Given the description of an element on the screen output the (x, y) to click on. 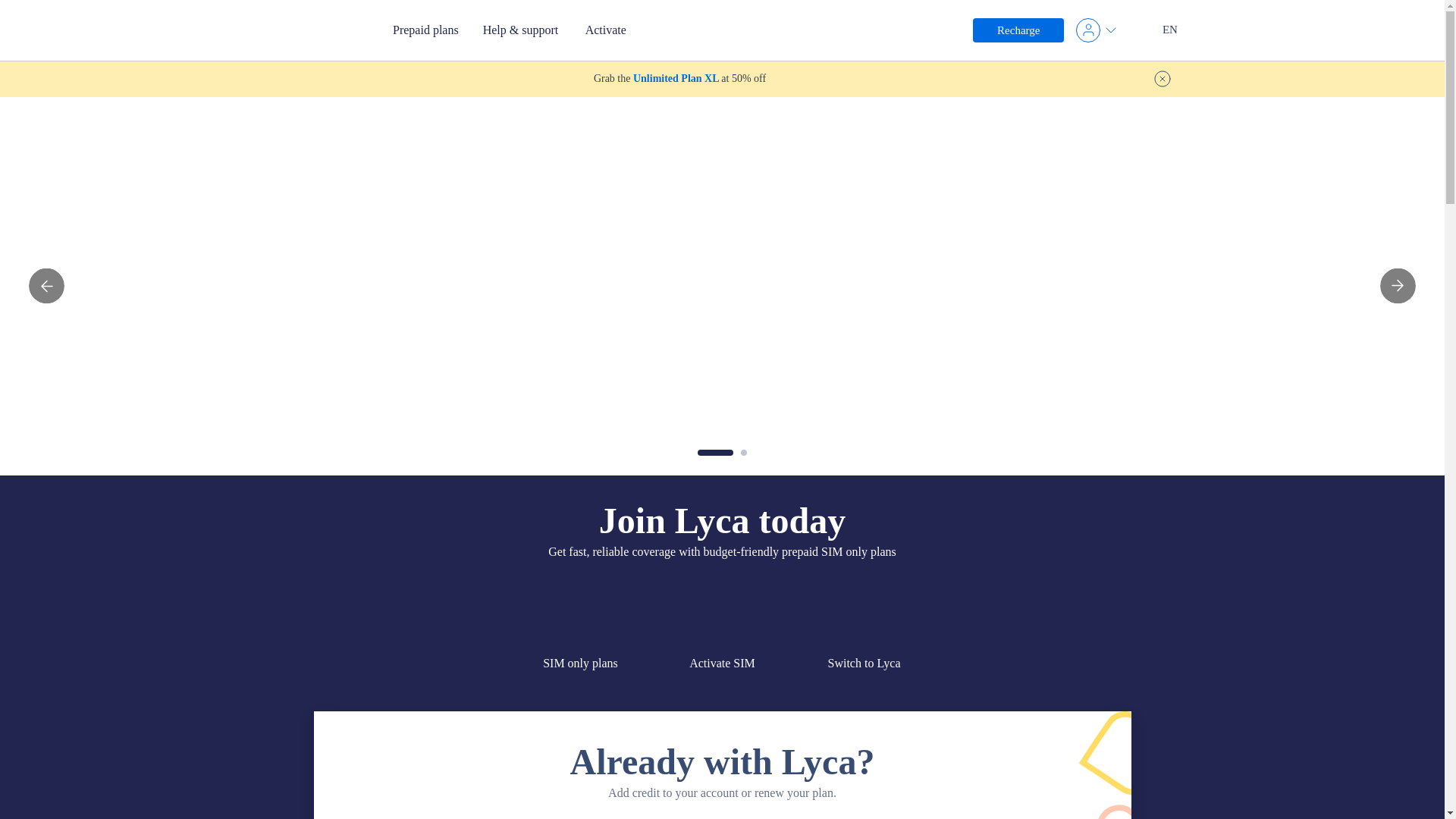
Switch to Lyca Element type: text (863, 663)
Activate SIM Element type: text (722, 663)
SIM only plans Element type: text (579, 663)
Unlimited Plan XL Element type: text (677, 78)
